Given the description of an element on the screen output the (x, y) to click on. 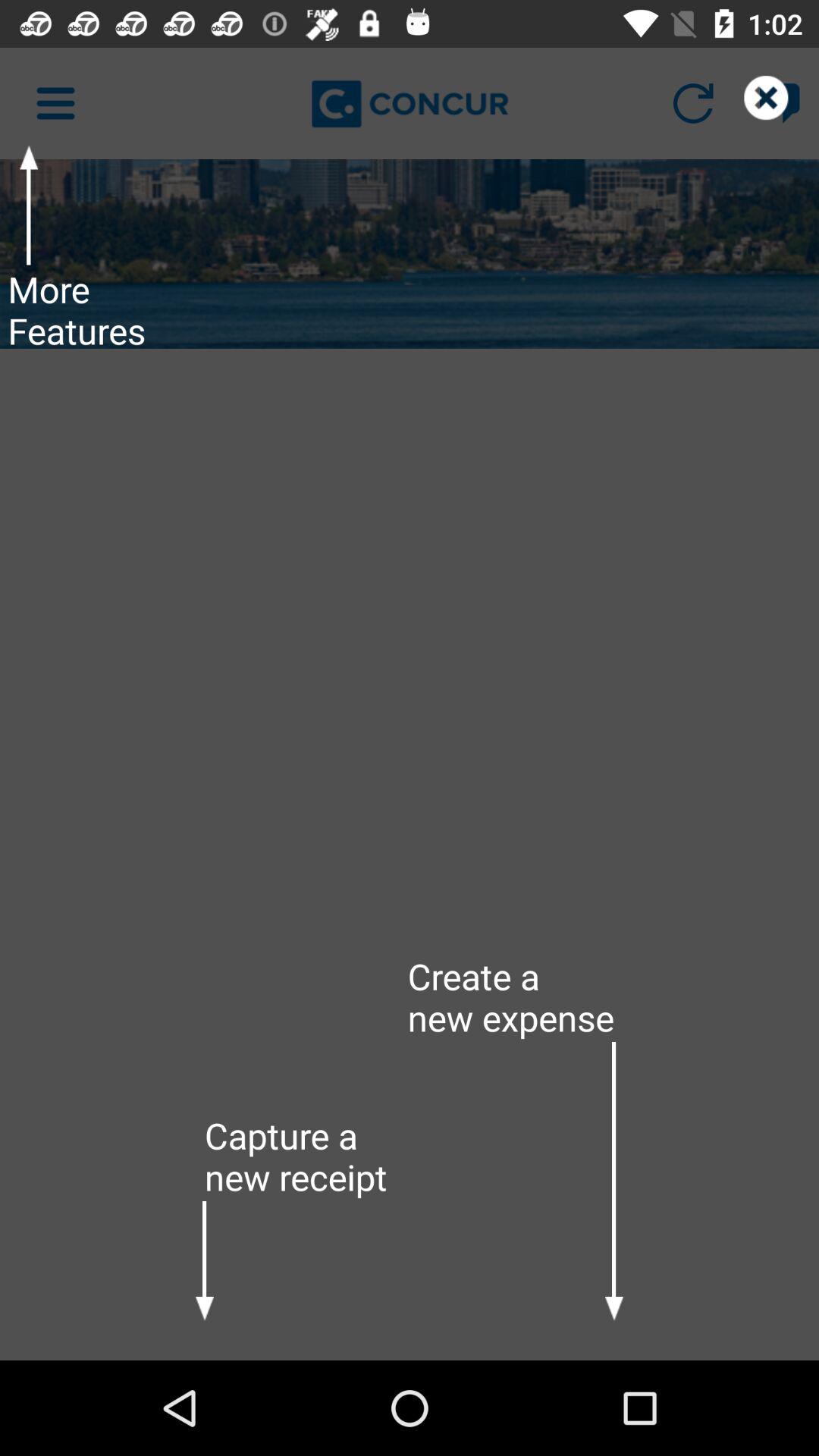
click on x which is on the top left corner (779, 103)
click on the reload icon beside close icon (693, 103)
